Given the description of an element on the screen output the (x, y) to click on. 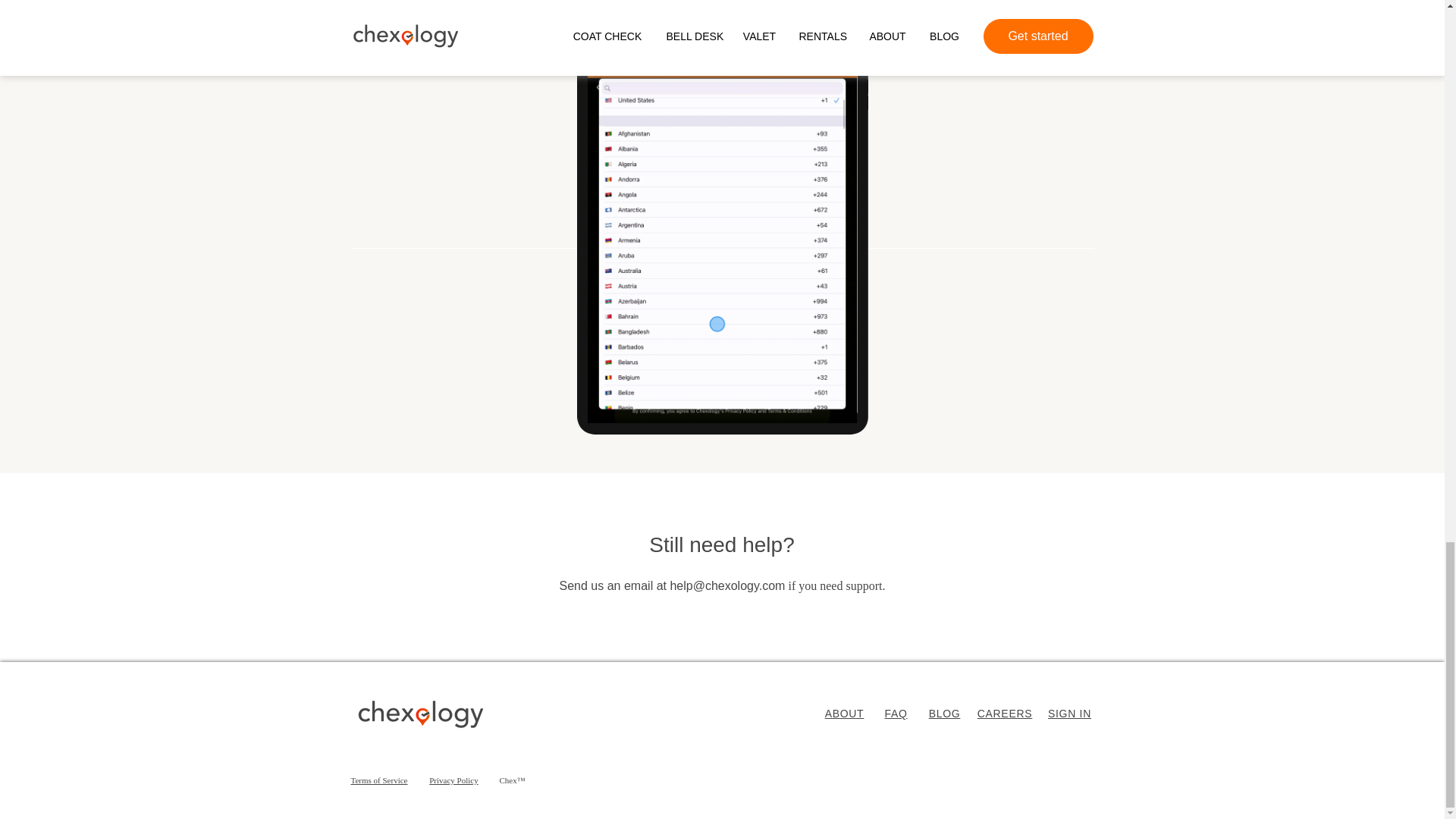
BLOG (944, 713)
ABOUT (844, 713)
Terms of Service (378, 779)
Privacy Policy (453, 779)
SIGN IN (1069, 713)
FAQ (895, 713)
CAREERS (1004, 713)
